Given the description of an element on the screen output the (x, y) to click on. 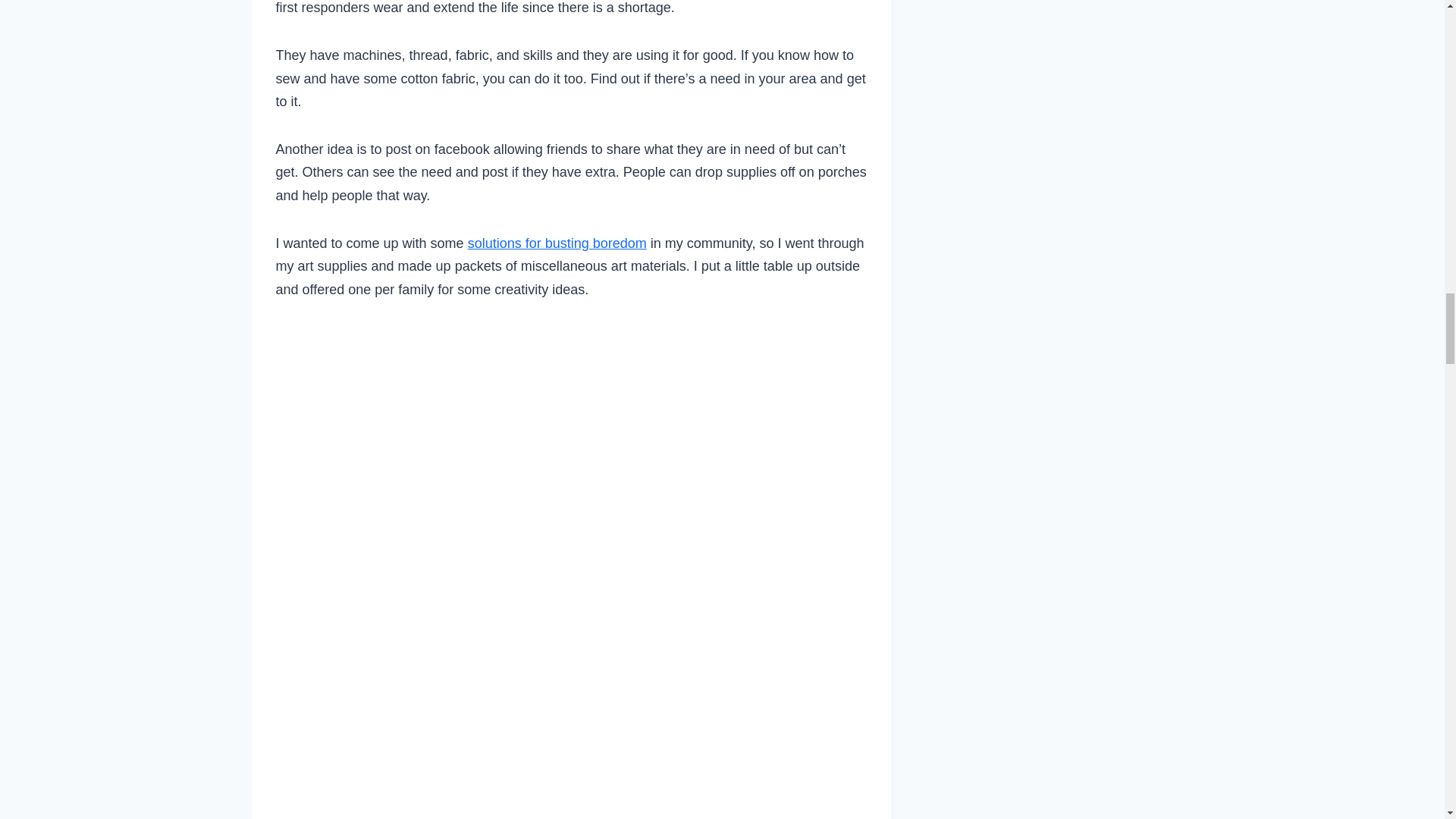
solutions for busting boredom (556, 242)
